Given the description of an element on the screen output the (x, y) to click on. 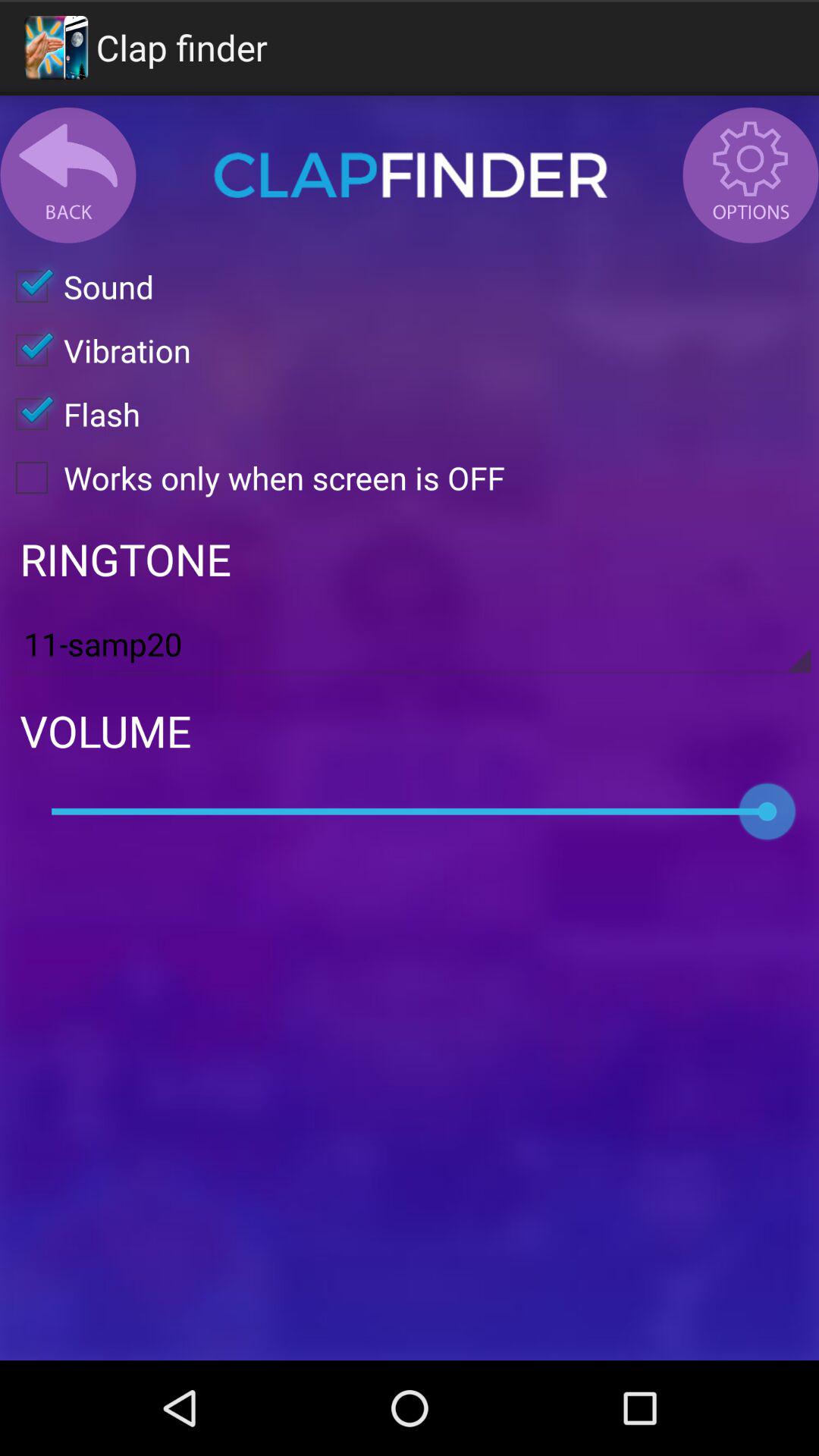
open the checkbox below the sound item (95, 350)
